Given the description of an element on the screen output the (x, y) to click on. 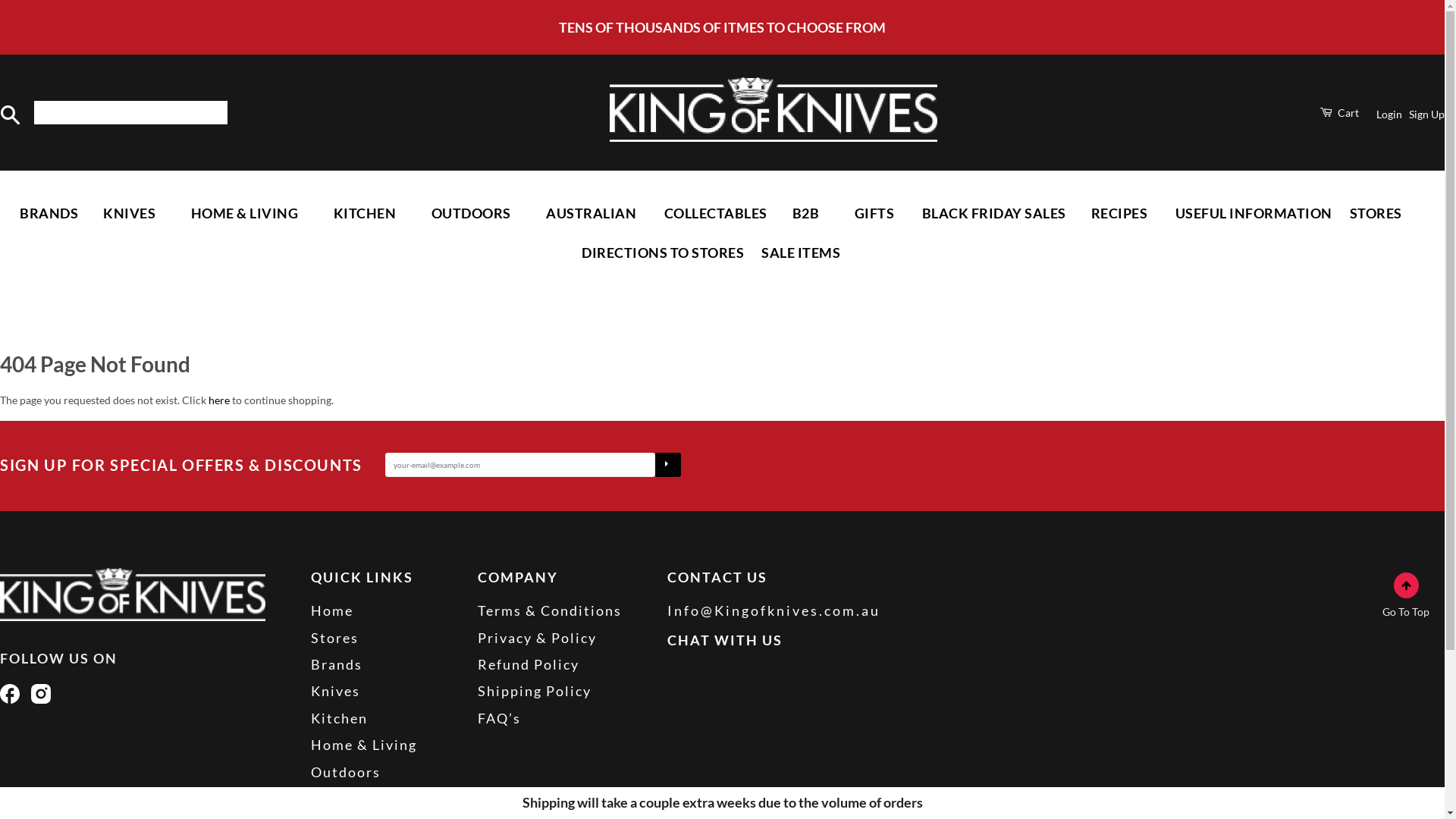
Refund Policy Element type: text (528, 663)
Stores Element type: text (334, 637)
Sign Up Element type: text (1426, 113)
Home & Living Element type: text (363, 744)
Cart Element type: text (1338, 111)
Kitchen Element type: text (338, 717)
COLLECTABLES Element type: text (715, 212)
Knives Element type: text (335, 690)
BLACK FRIDAY SALES Element type: text (993, 212)
OUTDOORS Element type: text (472, 212)
Info@Kingofknives.com.au Element type: text (773, 610)
HOME & LIVING Element type: text (245, 212)
Privacy & Policy Element type: text (536, 637)
STORES Element type: text (1375, 212)
GIFTS Element type: text (875, 212)
KNIVES Element type: text (130, 212)
Collectables Element type: text (356, 798)
B2B Element type: text (806, 212)
USEFUL INFORMATION Element type: text (1253, 212)
Terms & Conditions Element type: text (549, 610)
KITCHEN Element type: text (366, 212)
SALE ITEMS Element type: text (800, 252)
RECIPES Element type: text (1120, 212)
BRANDS Element type: text (48, 212)
Login Element type: text (1389, 113)
AUSTRALIAN Element type: text (592, 212)
DIRECTIONS TO STORES Element type: text (662, 252)
Outdoors Element type: text (345, 771)
Shipping Policy Element type: text (534, 690)
Brands Element type: text (336, 663)
Home Element type: text (331, 610)
Go To Top Element type: text (1405, 599)
Search Element type: text (10, 114)
here Element type: text (218, 399)
